Given the description of an element on the screen output the (x, y) to click on. 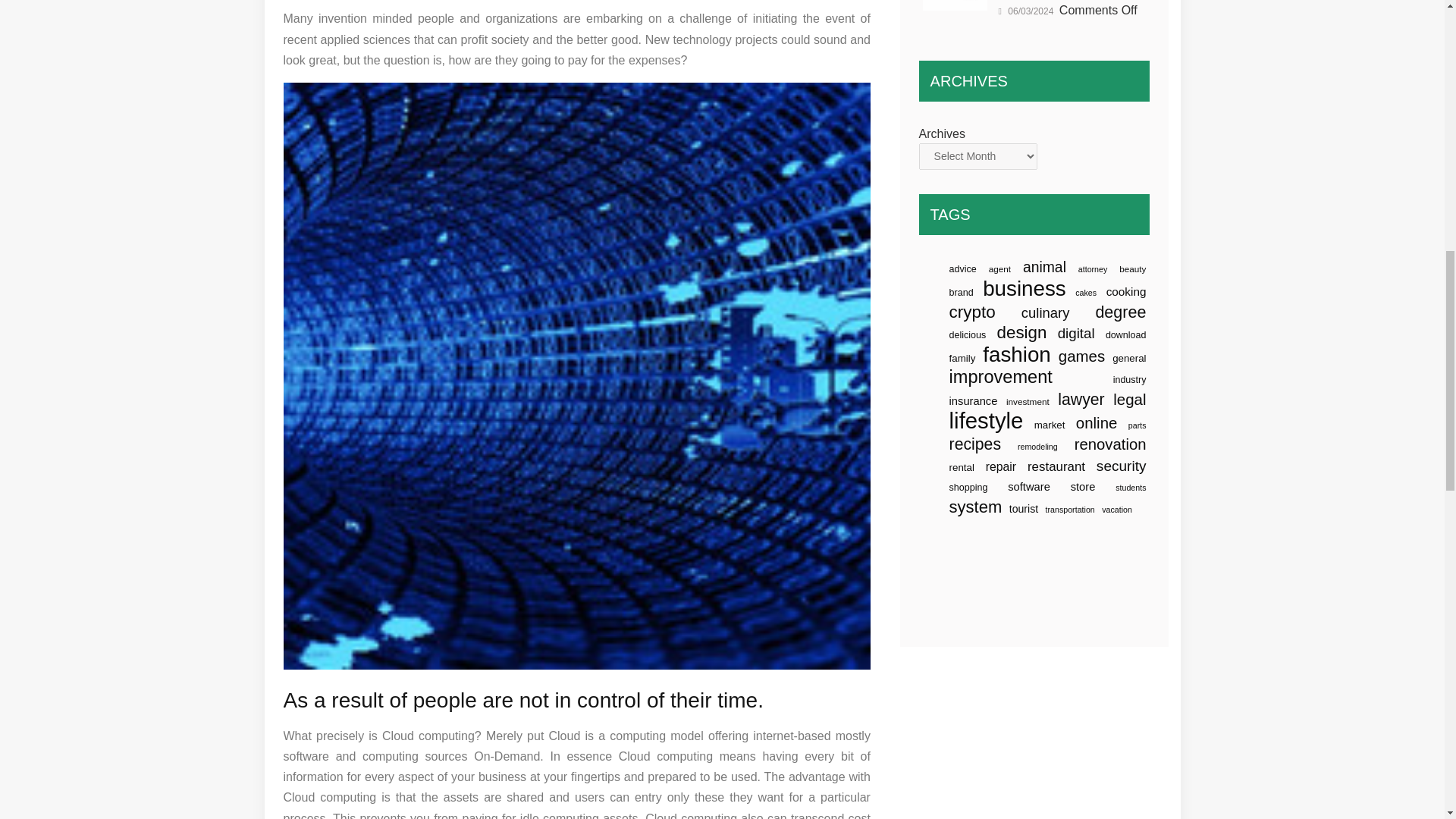
The Unexposed Secret of Feel What's Inside Technology (955, 5)
